Given the description of an element on the screen output the (x, y) to click on. 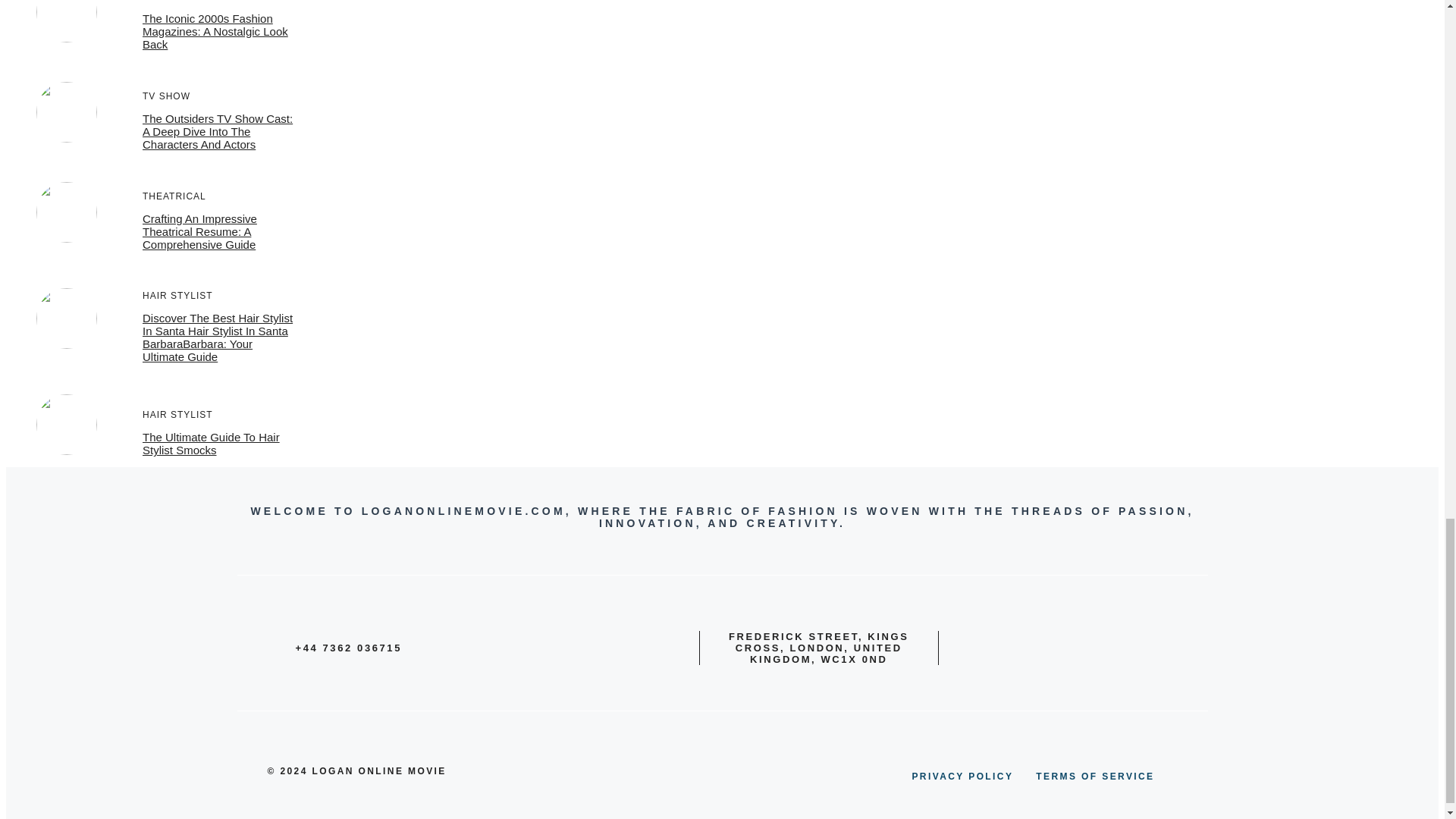
TERMS OF SERVICE (1094, 776)
The Iconic 2000s Fashion Magazines: A Nostalgic Look Back (215, 31)
The Ultimate Guide To Hair Stylist Smocks (210, 443)
PRIVACY POLICY (962, 776)
